Given the description of an element on the screen output the (x, y) to click on. 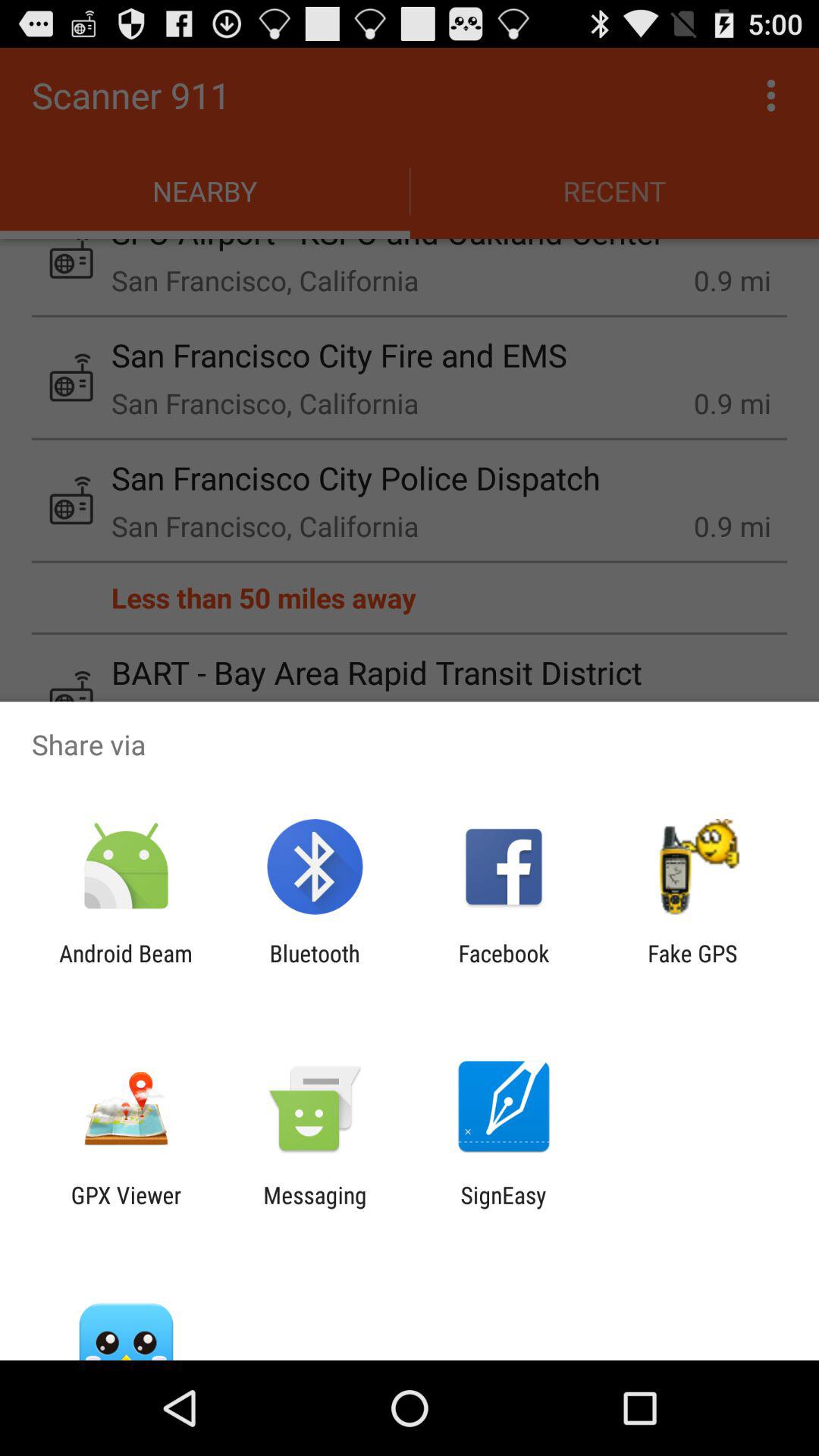
turn on the icon next to the android beam icon (314, 966)
